Given the description of an element on the screen output the (x, y) to click on. 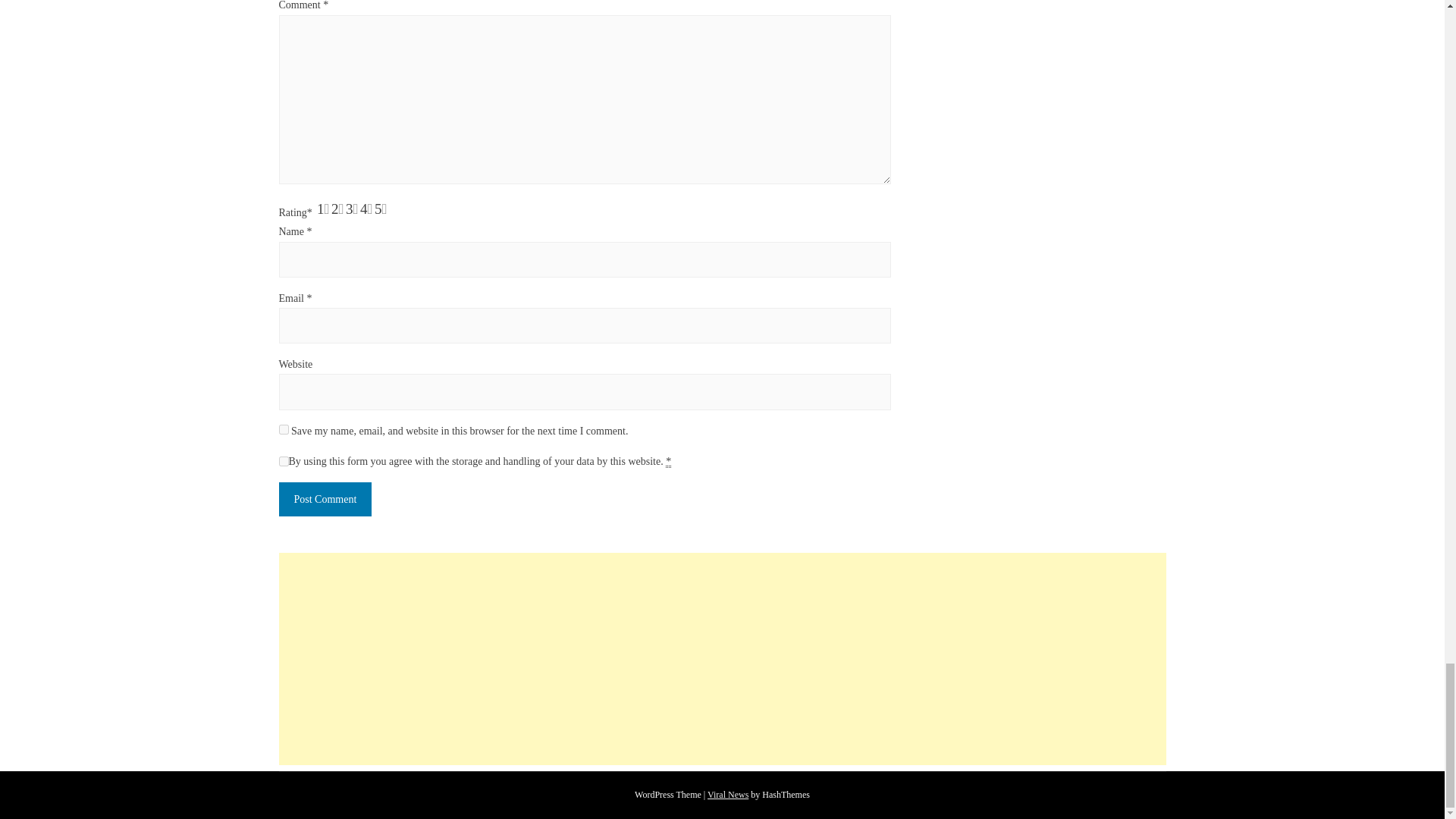
yes (283, 429)
Post Comment (325, 499)
